Given the description of an element on the screen output the (x, y) to click on. 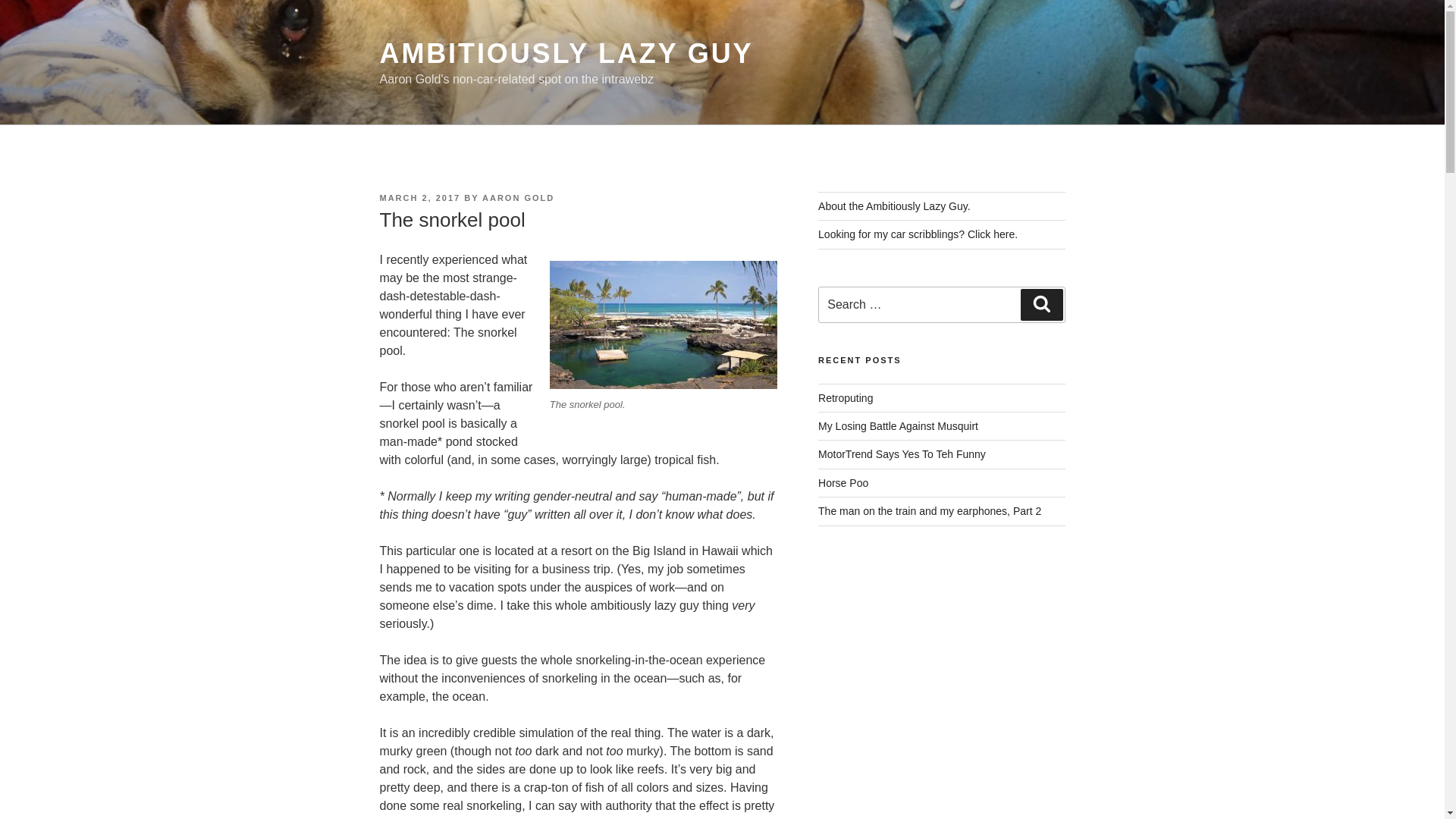
About the Ambitiously Lazy Guy. (894, 205)
MARCH 2, 2017 (419, 197)
The man on the train and my earphones, Part 2 (929, 510)
Retroputing (845, 398)
Search (1041, 305)
AARON GOLD (517, 197)
AMBITIOUSLY LAZY GUY (565, 52)
My Losing Battle Against Musquirt (898, 426)
Looking for my car scribblings? Click here. (917, 234)
Horse Poo (842, 482)
